Given the description of an element on the screen output the (x, y) to click on. 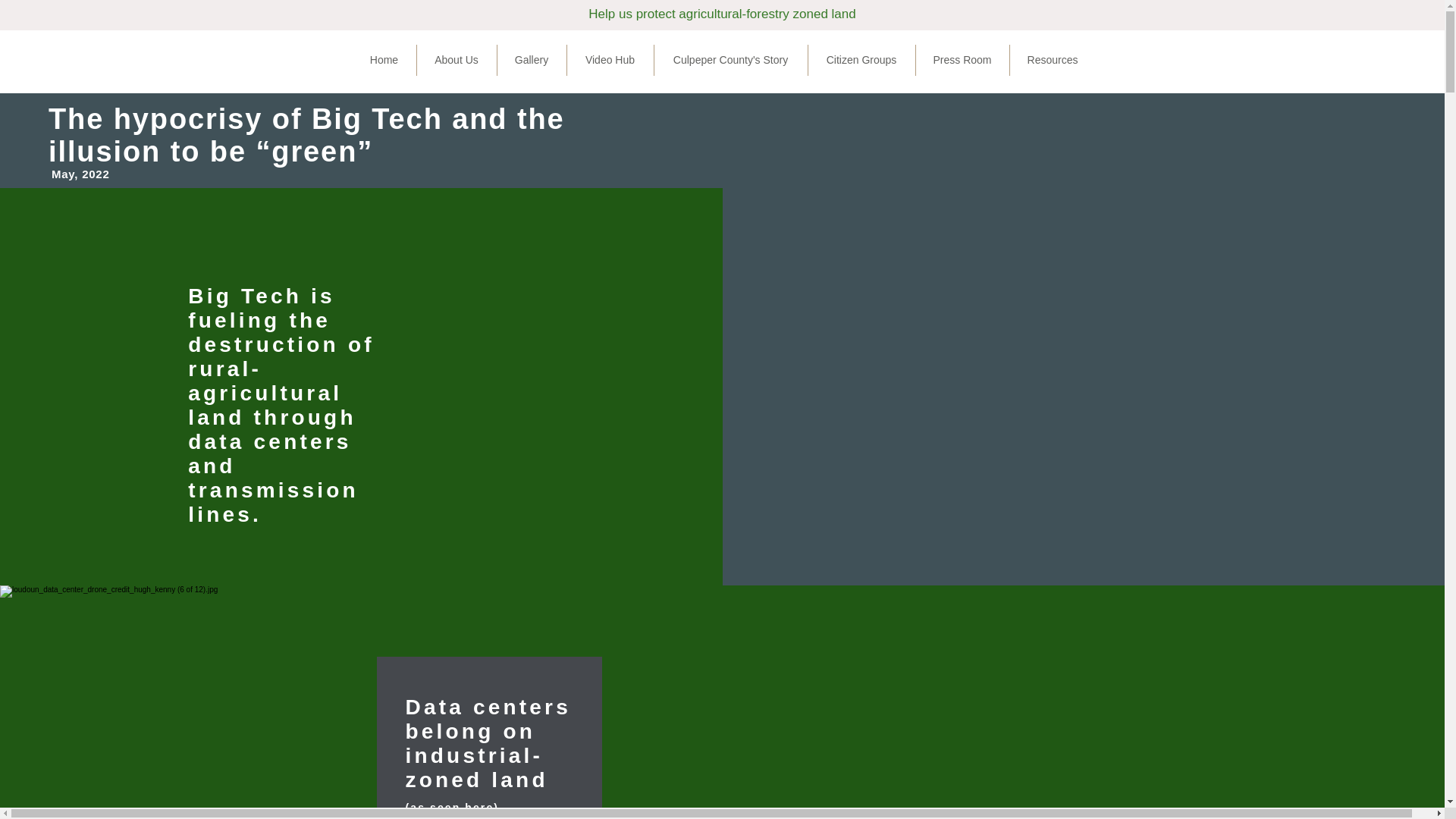
Home (383, 60)
Press Room (962, 60)
Video Hub (610, 60)
About Us (456, 60)
Responsible (775, 121)
Gallery (531, 60)
Culpeper County's Story (729, 60)
Citizens for (771, 104)
